Given the description of an element on the screen output the (x, y) to click on. 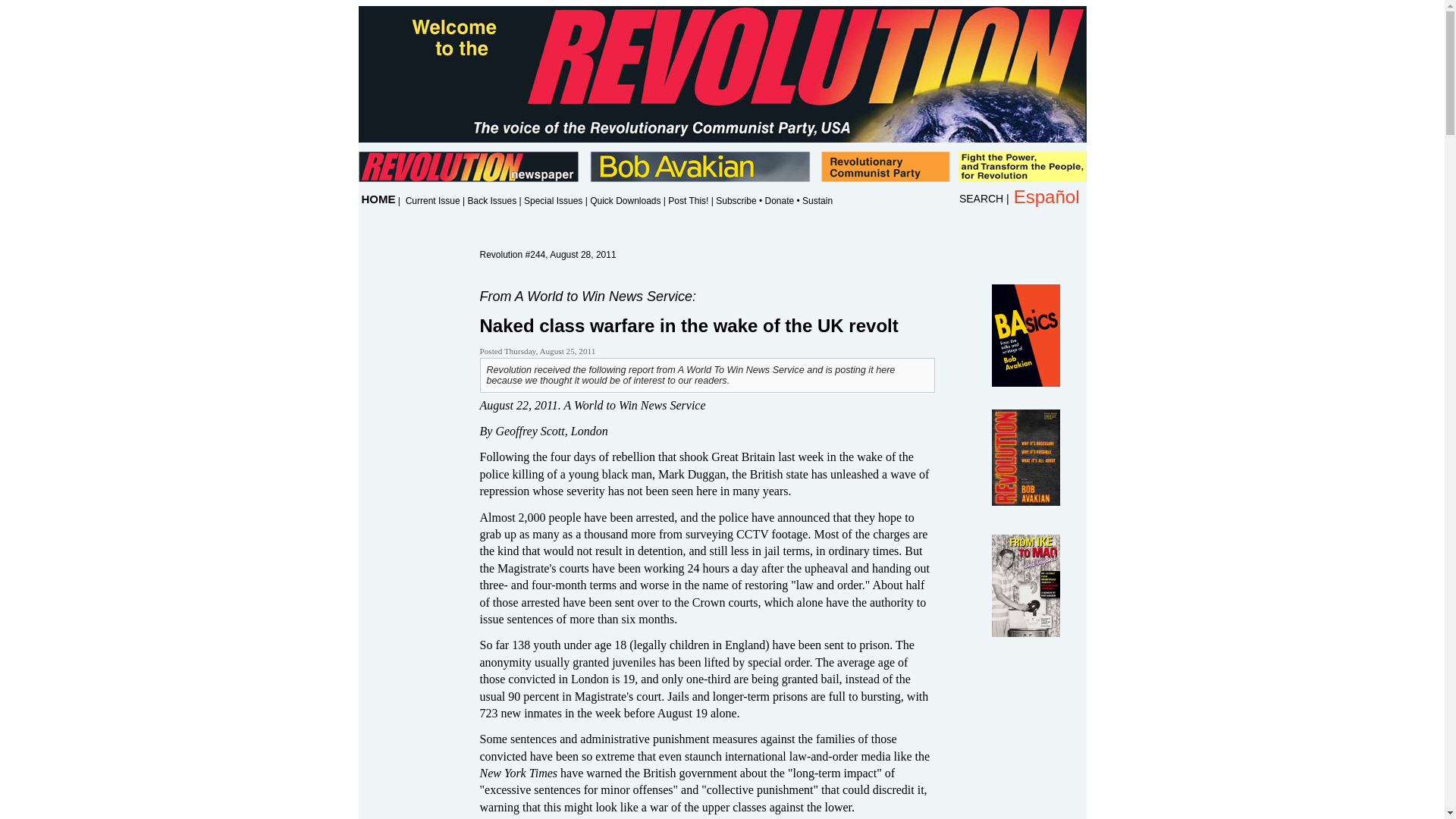
SEARCH (981, 198)
Current Issue (433, 200)
Special Issues (553, 200)
Post This! (687, 200)
HOME (377, 198)
Back Issues (491, 200)
Quick Downloads (625, 200)
